Given the description of an element on the screen output the (x, y) to click on. 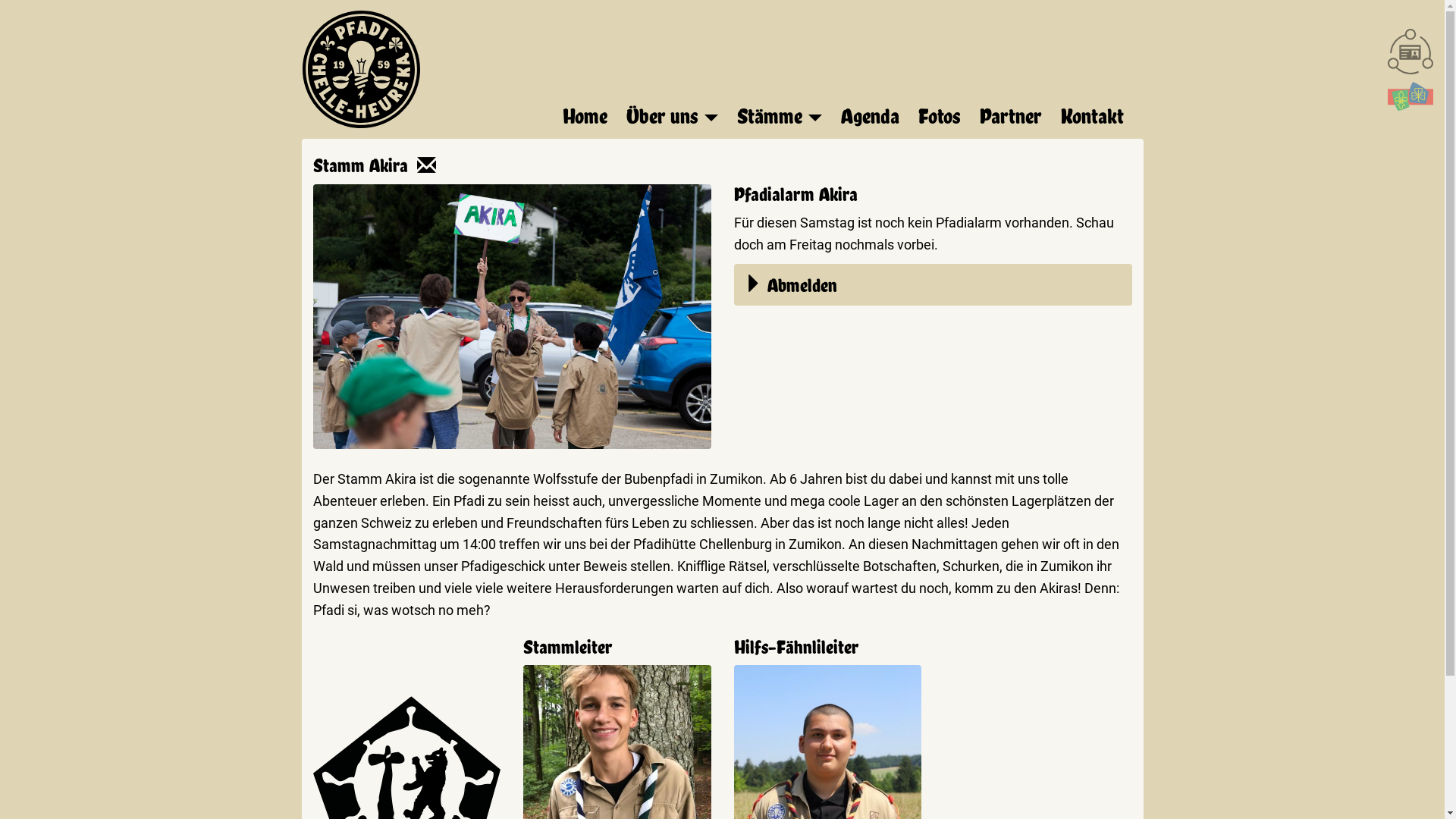
Fotos Element type: text (942, 119)
Kontakt Element type: text (1095, 119)
Agenda Element type: text (873, 119)
Abmelden Element type: text (933, 284)
Partner Element type: text (1014, 119)
Home Element type: text (588, 119)
MiData Element type: hover (1410, 95)
Webetat Element type: hover (1410, 51)
